Given the description of an element on the screen output the (x, y) to click on. 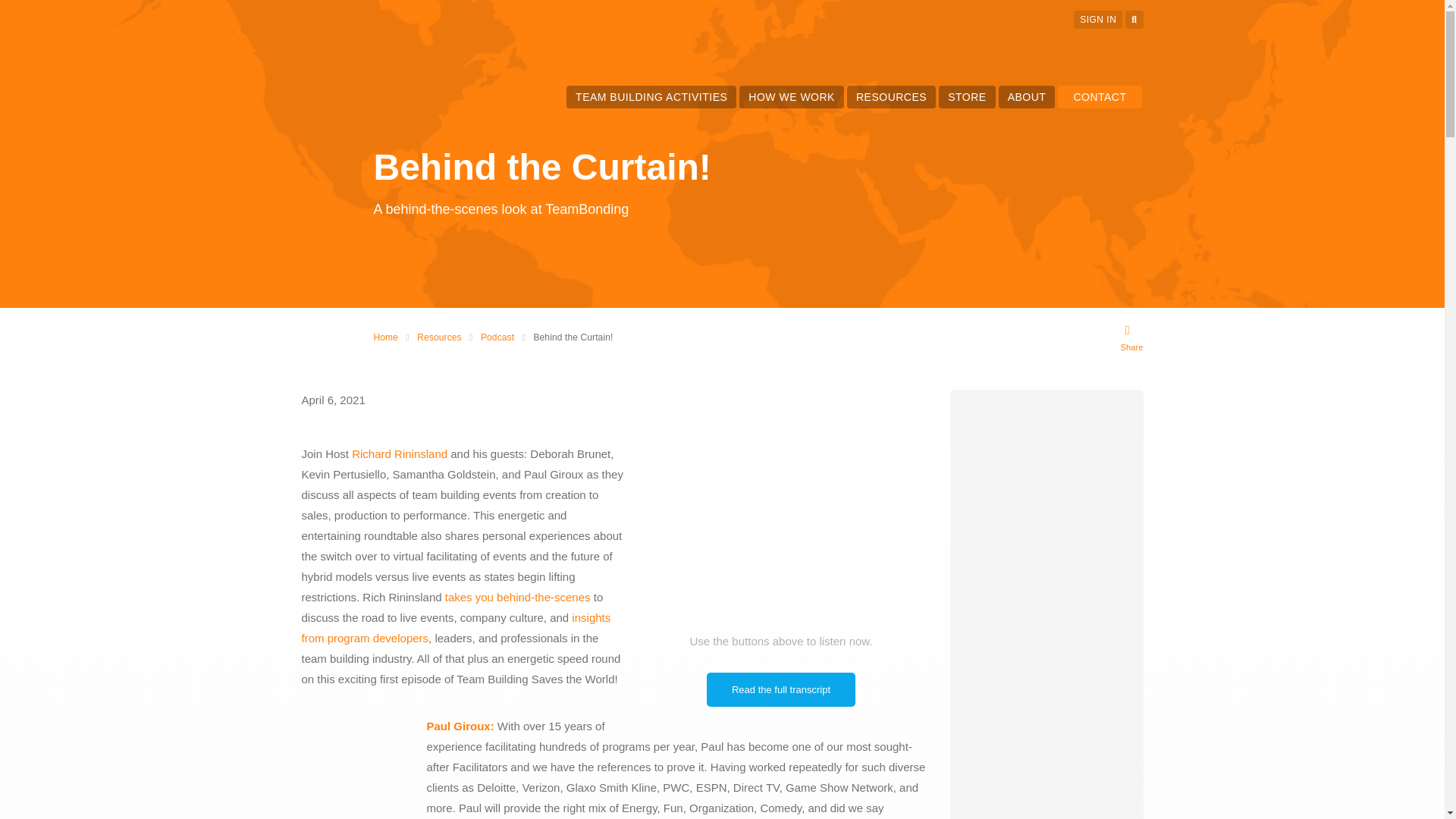
CONTACT (1099, 96)
HOW WE WORK (791, 96)
SIGN IN (1098, 19)
Adori web Player (780, 506)
ABOUT (1026, 96)
RESOURCES (891, 96)
STORE (966, 96)
TEAM BUILDING ACTIVITIES (650, 96)
